Given the description of an element on the screen output the (x, y) to click on. 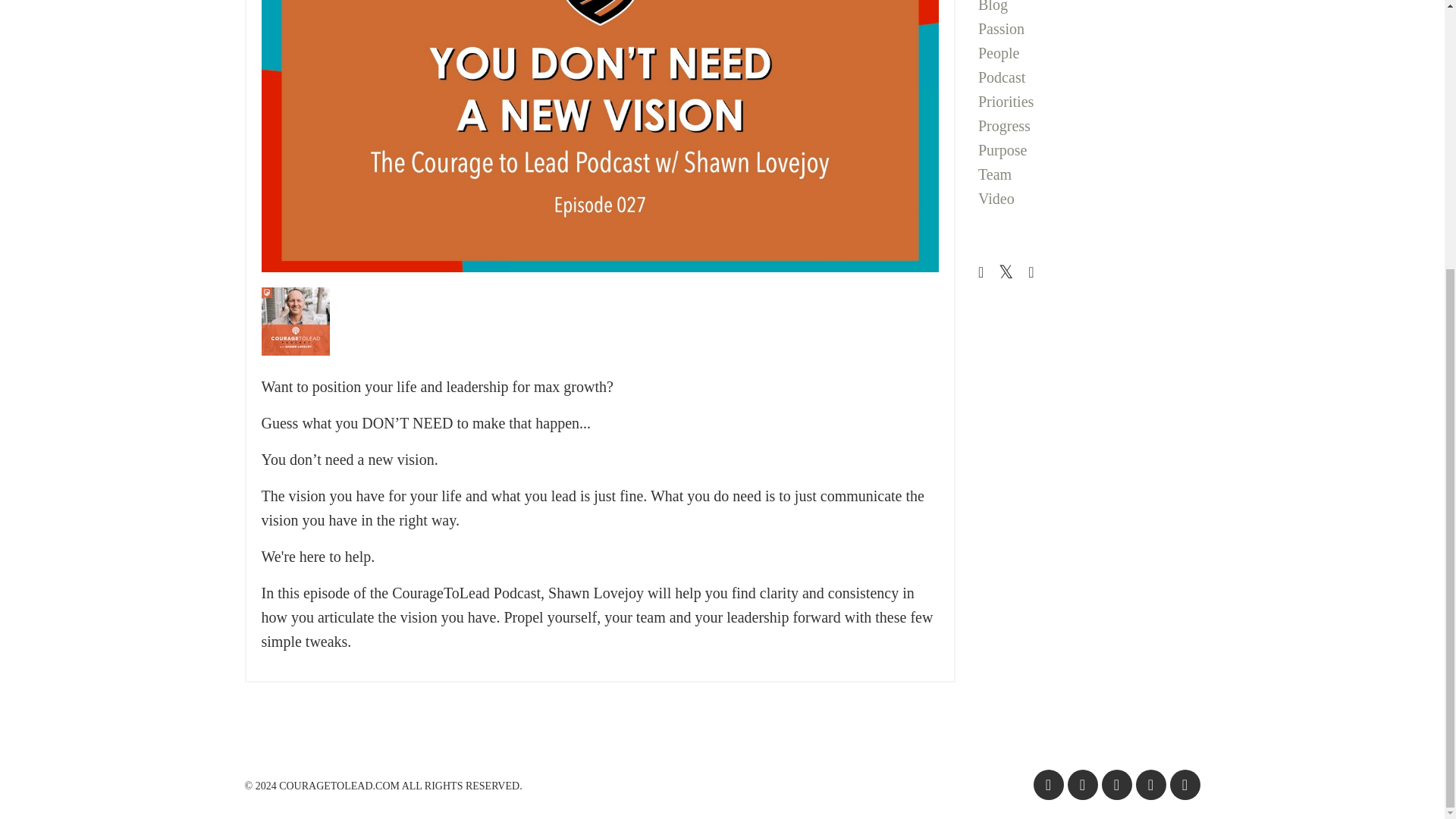
People (1088, 52)
Progress (1088, 125)
Priorities (1088, 101)
Podcast (1088, 77)
Libsyn Player (599, 321)
Passion (1088, 28)
Team (1088, 174)
Video (1088, 198)
Blog (1088, 8)
Purpose (1088, 150)
